Given the description of an element on the screen output the (x, y) to click on. 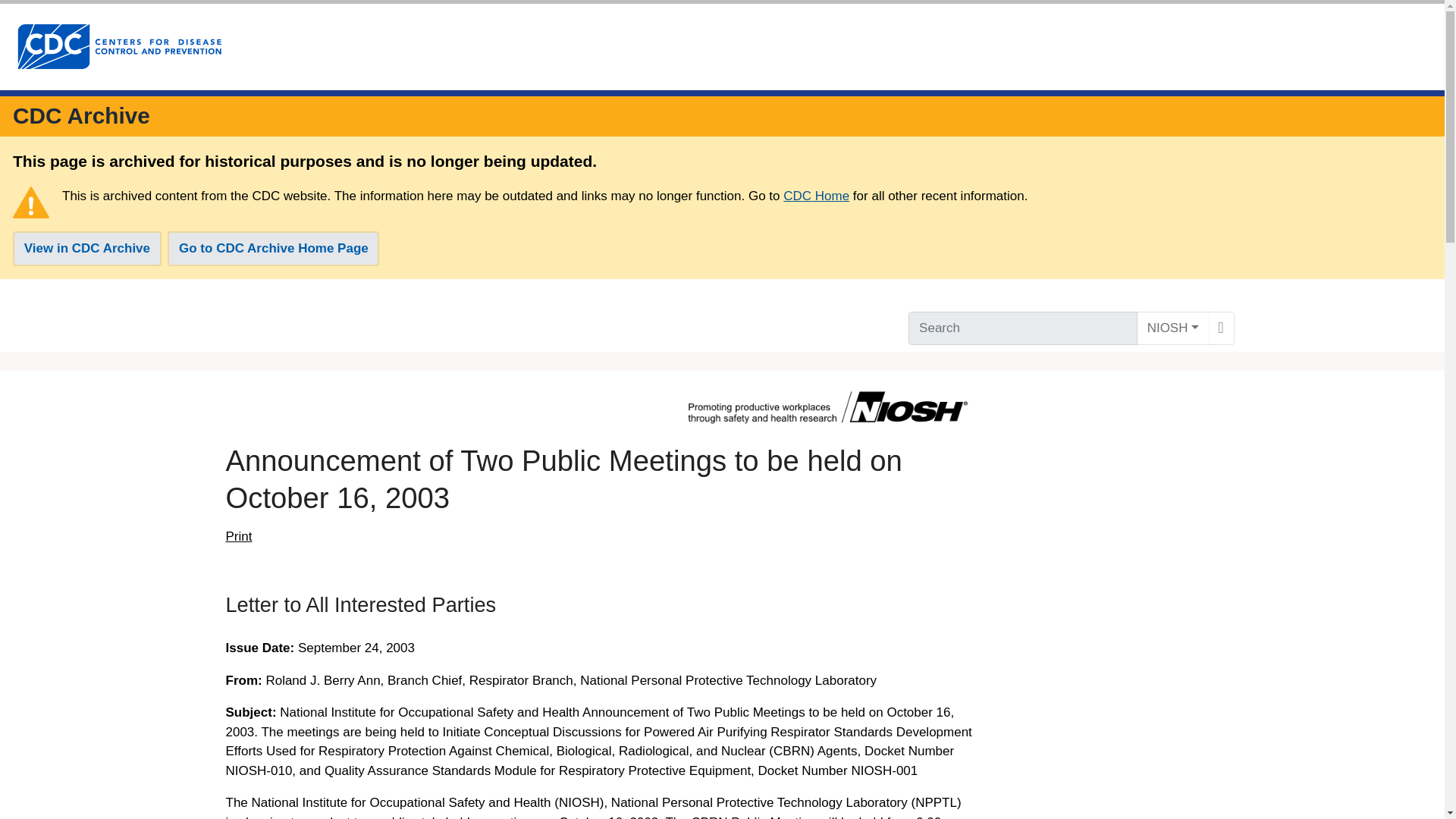
CDC Home (815, 196)
Go to CDC Archive Home Page (272, 248)
Print (238, 537)
CDC Archive Home (81, 115)
NIOSH (1173, 328)
CDC Archive (81, 115)
View in CDC Archive (87, 248)
